Given the description of an element on the screen output the (x, y) to click on. 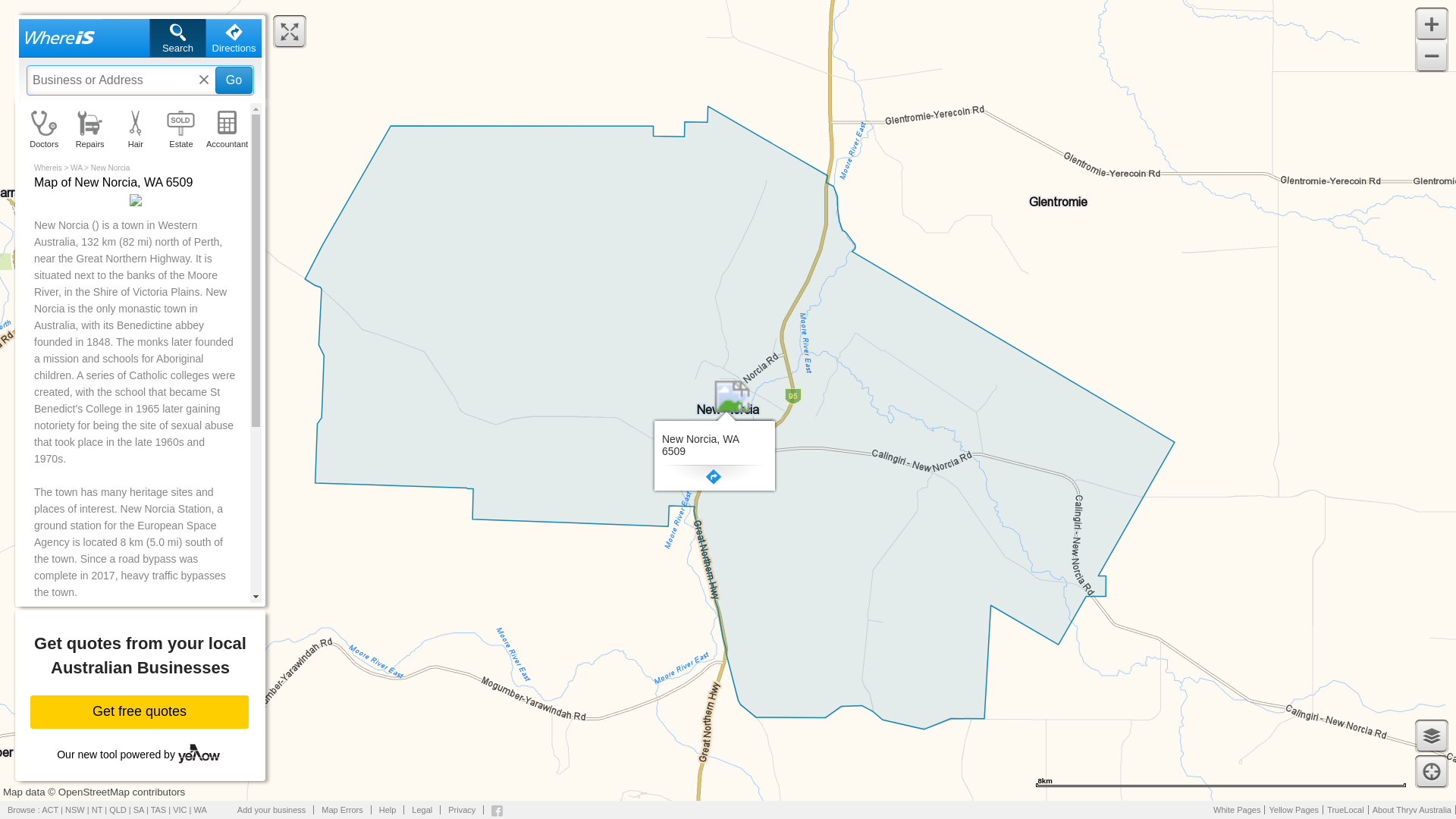
H (45, 708)
Show list of categories beginning with P for New Norcia (74, 737)
O (45, 737)
N (139, 59)
Show list of categories beginning with I for New Norcia (222, 708)
Show list of categories beginning with L for New Norcia (74, 708)
G (162, 708)
M (222, 678)
D (192, 708)
Show list of categories beginning with N for New Norcia (133, 678)
T (222, 708)
Go (192, 737)
Show list of categories beginning with B for New Norcia (233, 80)
V (74, 678)
